Given the description of an element on the screen output the (x, y) to click on. 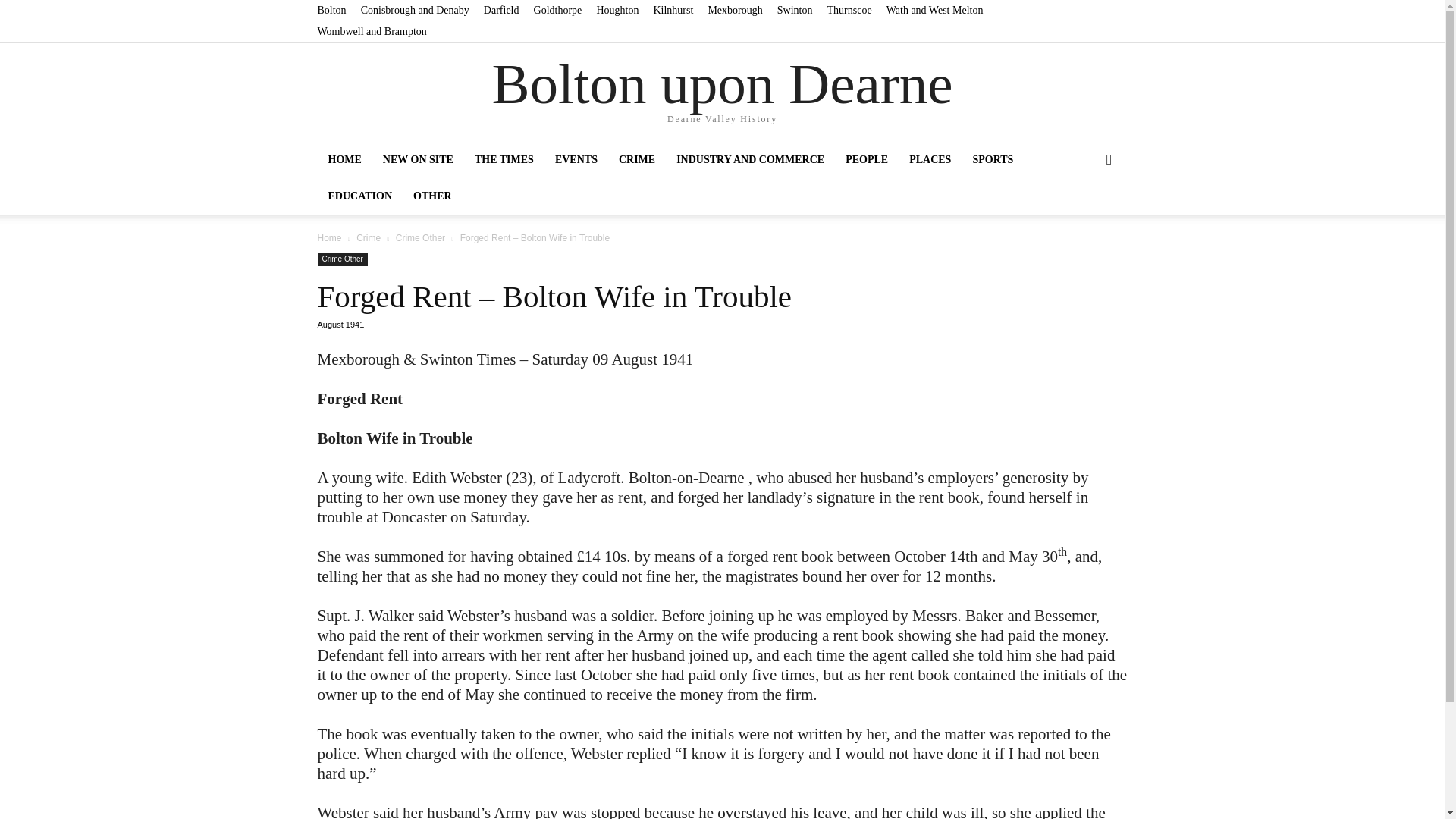
CRIME (636, 159)
View all posts in Crime Other (420, 237)
Kilnhurst (672, 9)
Wath and West Melton (935, 9)
PLACES (929, 159)
HOME (344, 159)
Conisbrough and Denaby (414, 9)
EVENTS (576, 159)
Swinton (794, 9)
PEOPLE (866, 159)
